Given the description of an element on the screen output the (x, y) to click on. 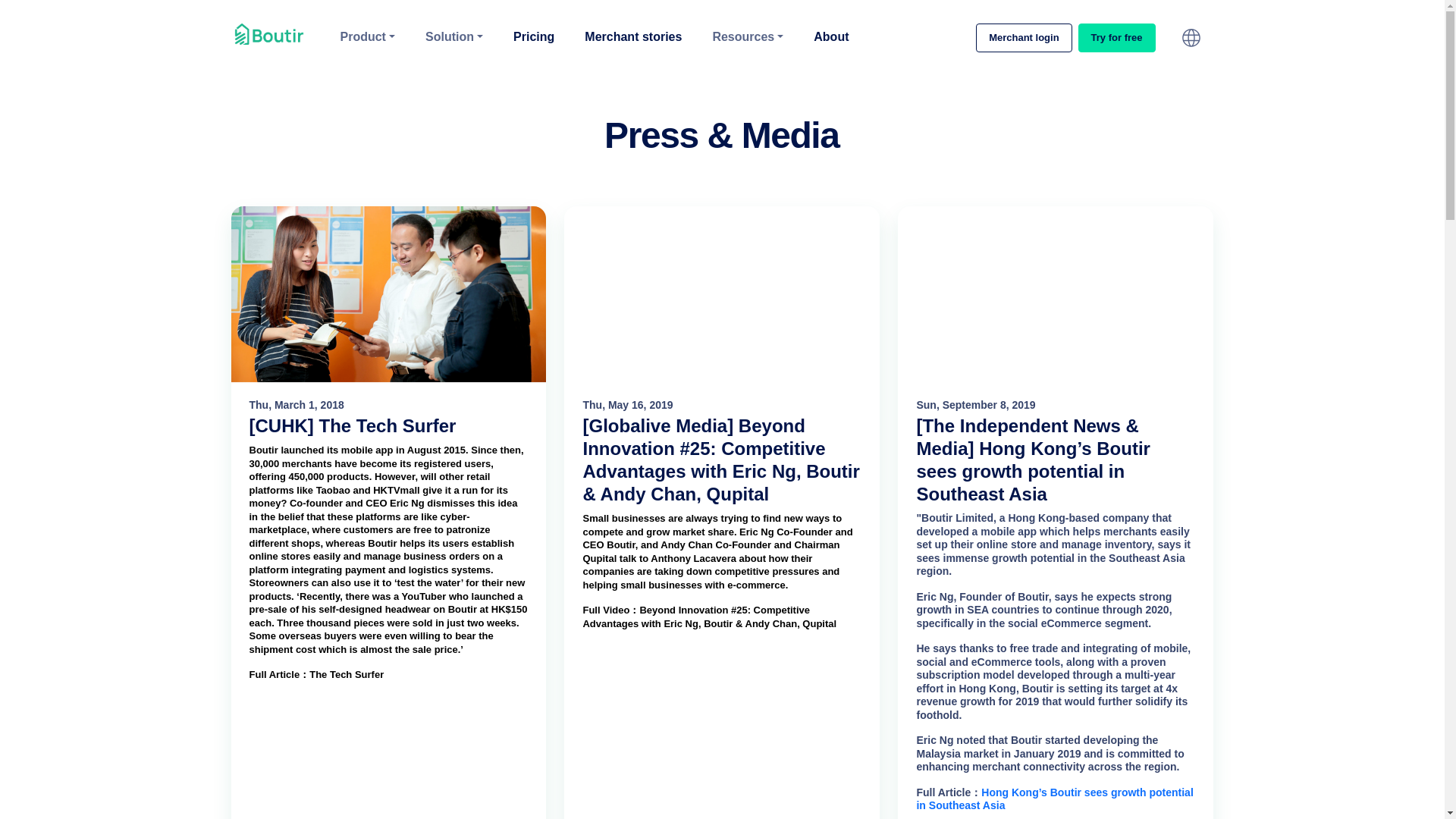
Pricing (533, 36)
Try for free (1117, 37)
Solution (453, 36)
Resources (747, 36)
The Tech Surfer (346, 674)
Merchant login (1023, 37)
About (831, 36)
Merchant stories (632, 36)
Product (367, 36)
